Given the description of an element on the screen output the (x, y) to click on. 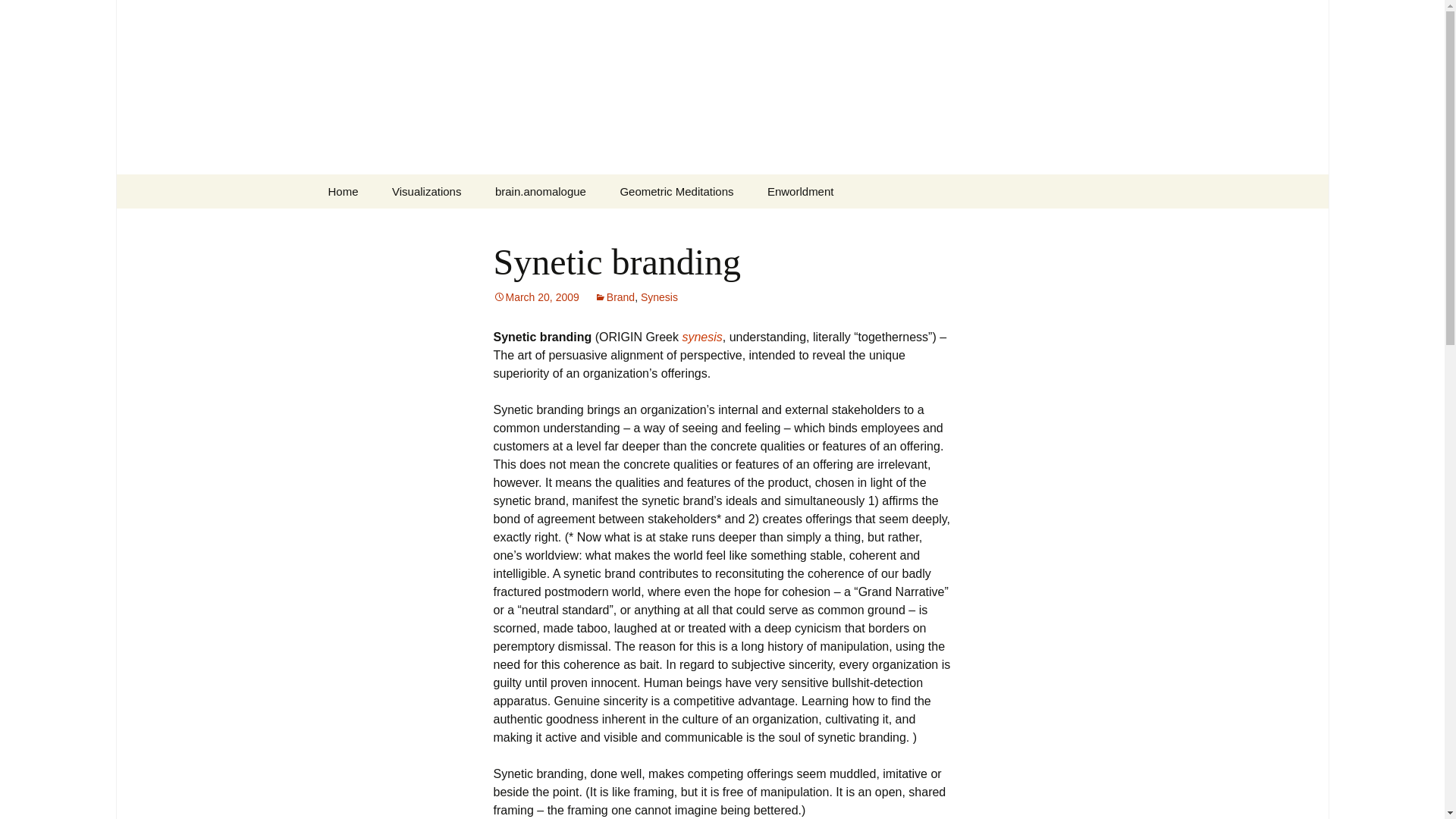
Search (18, 15)
Permalink to Synetic branding (535, 297)
Synesis (659, 297)
Brand (614, 297)
brain.anomalogue (540, 191)
Geometric Meditations (676, 191)
March 20, 2009 (535, 297)
synesis (701, 336)
Visualizations (426, 191)
Enworldment (342, 191)
